Given the description of an element on the screen output the (x, y) to click on. 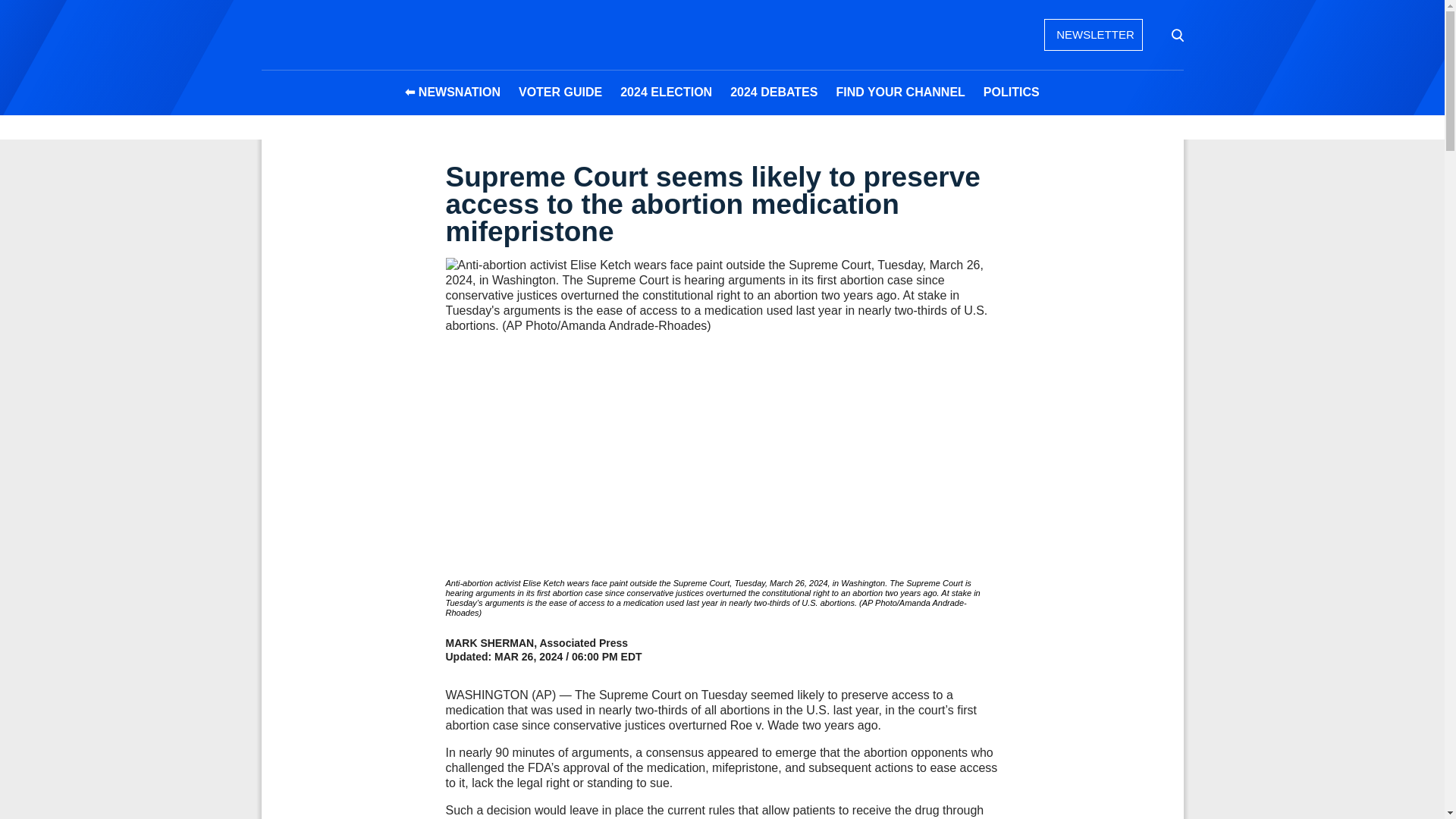
FIND YOUR CHANNEL (900, 92)
2024 DEBATES (773, 92)
VOTER GUIDE (560, 92)
NEWSLETTER (1092, 34)
POLITICS (1011, 92)
Go (1176, 34)
2024 ELECTION (665, 92)
